Given the description of an element on the screen output the (x, y) to click on. 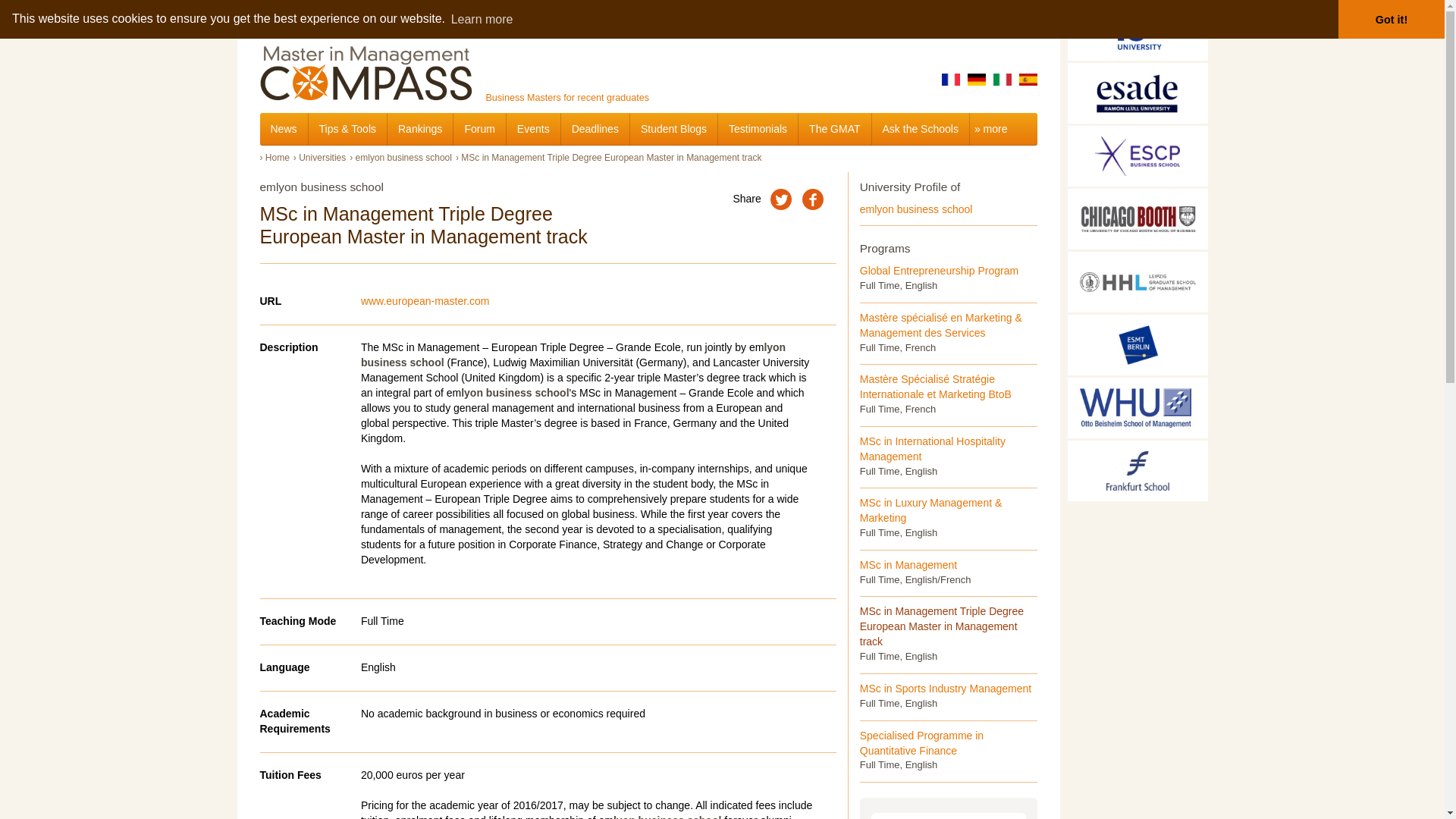
Home (276, 157)
MBA Compass (849, 16)
Ask the Schools (920, 128)
Student Blogs (673, 128)
Learn more (481, 18)
MSc in Sports Industry Management (945, 688)
ESMT Berlin, Berlin, Germany (1137, 344)
News (283, 128)
WHU Otto Beisheim School of Management, Vallendar, Germany (1137, 407)
MSc in International Hospitality Management (933, 448)
Forum (478, 128)
Universities (322, 157)
emlyon business school (916, 209)
IE Business School, Madrid, Spain (1137, 30)
